Given the description of an element on the screen output the (x, y) to click on. 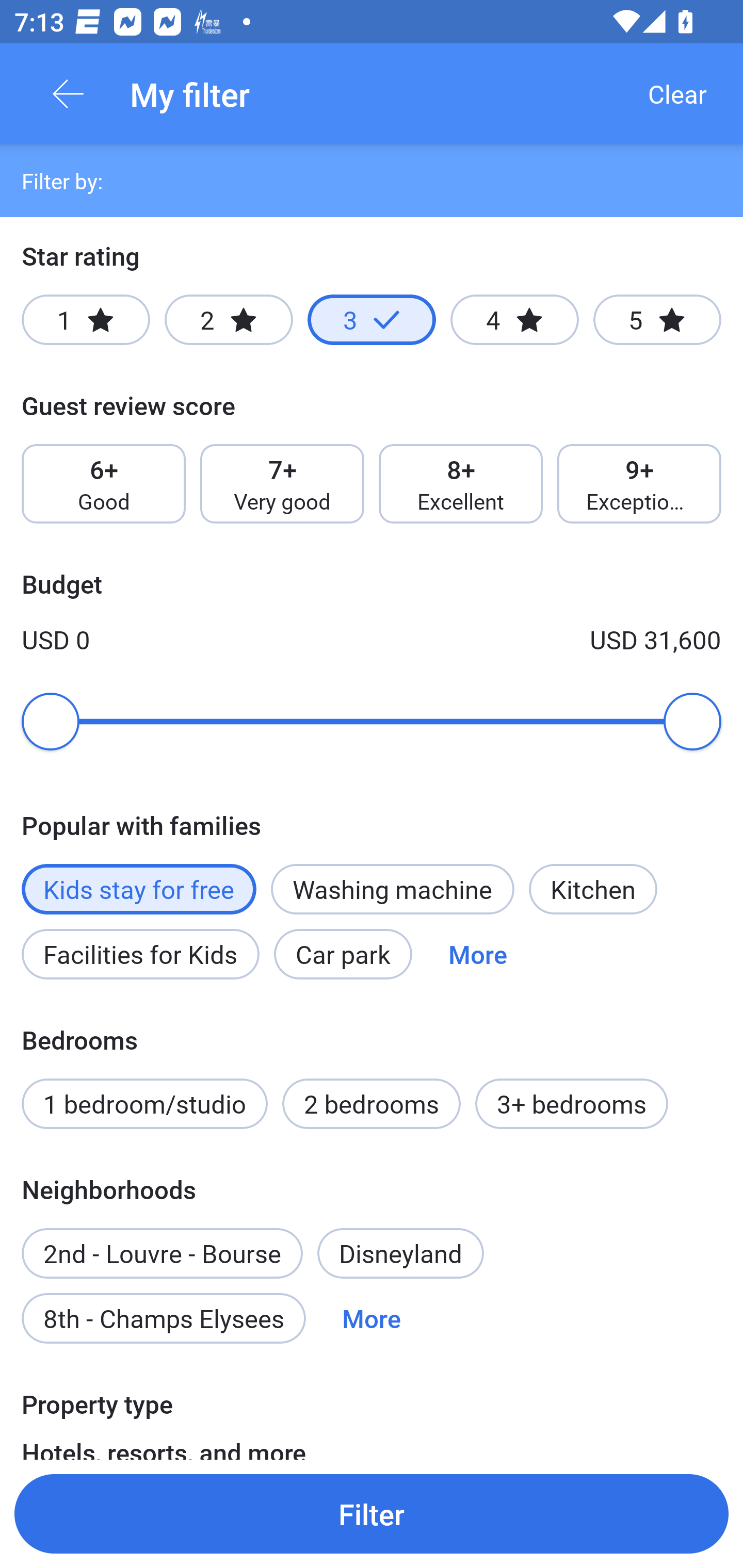
Clear (676, 93)
1 (85, 319)
2 (228, 319)
4 (514, 319)
5 (657, 319)
6+ Good (103, 483)
7+ Very good (281, 483)
8+ Excellent (460, 483)
9+ Exceptional (639, 483)
Washing machine (392, 888)
Kitchen (593, 888)
Facilities for Kids (140, 954)
Car park (343, 954)
More (477, 954)
1 bedroom/studio (144, 1103)
2 bedrooms (371, 1103)
3+ bedrooms (571, 1103)
2nd - Louvre - Bourse (162, 1242)
Disneyland (400, 1253)
8th - Champs Elysees (163, 1317)
More (371, 1317)
Filter (371, 1513)
